Given the description of an element on the screen output the (x, y) to click on. 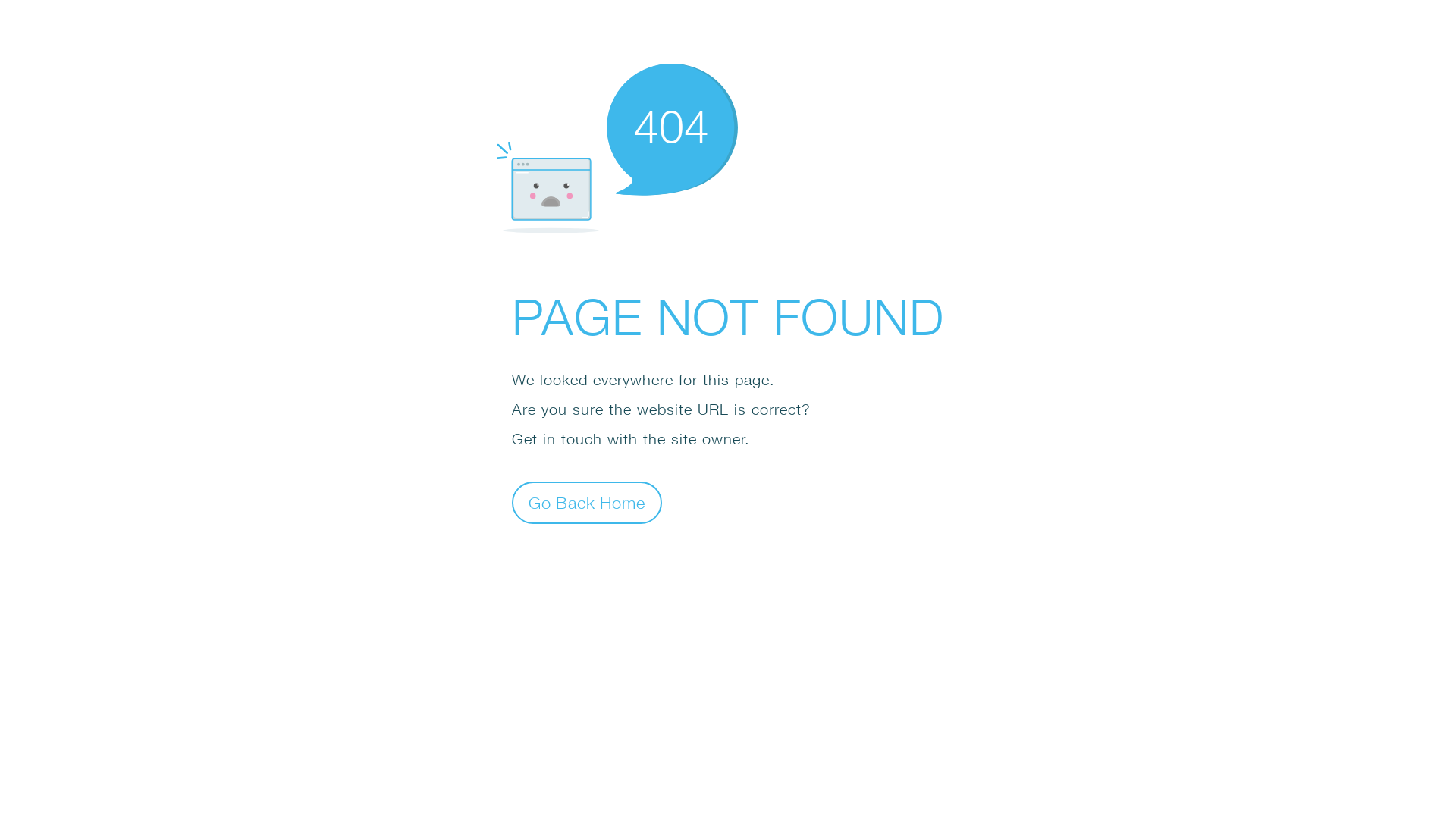
Go Back Home Element type: text (586, 502)
